Given the description of an element on the screen output the (x, y) to click on. 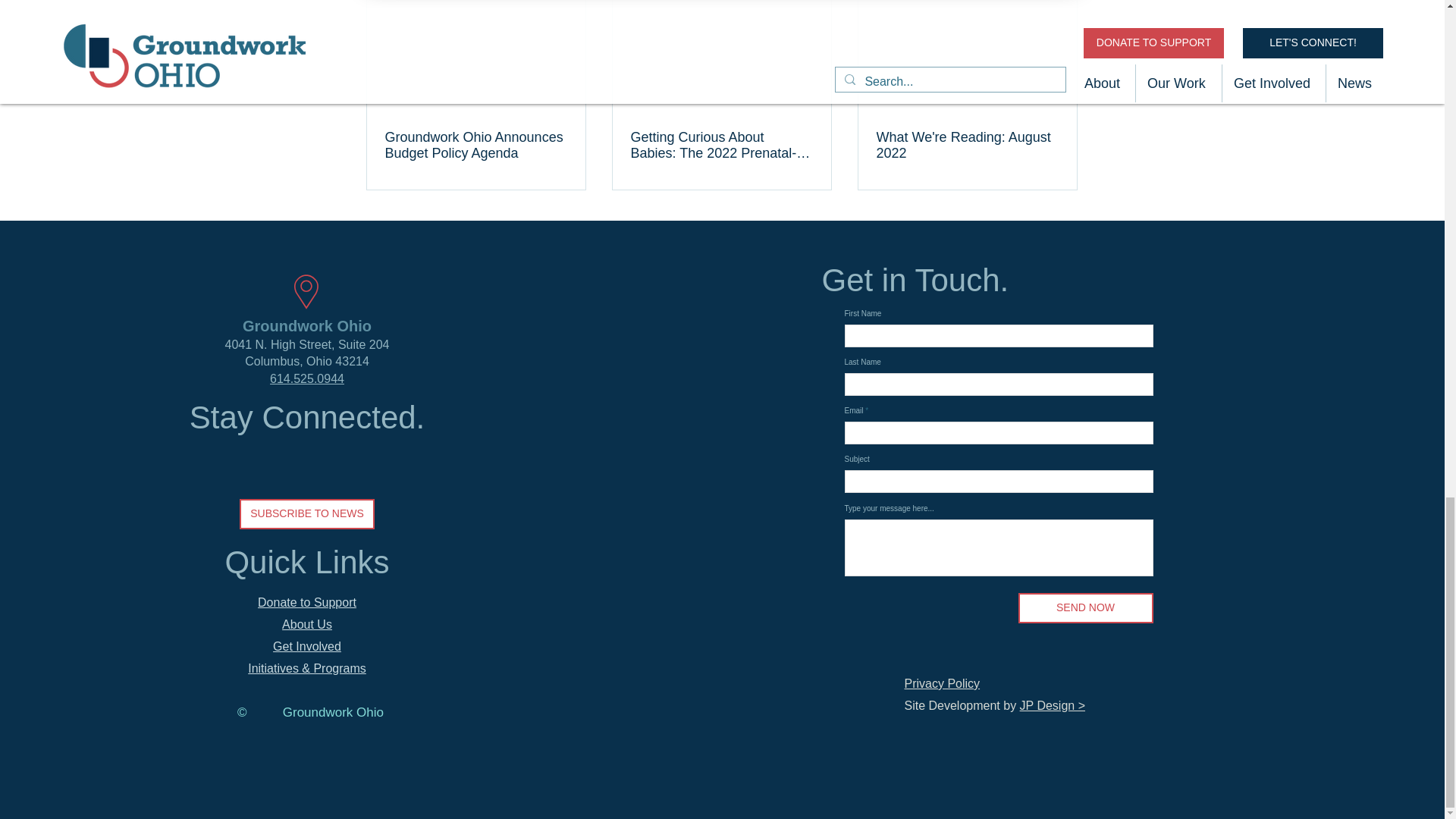
Groundwork Ohio Announces Budget Policy Agenda (476, 145)
